Given the description of an element on the screen output the (x, y) to click on. 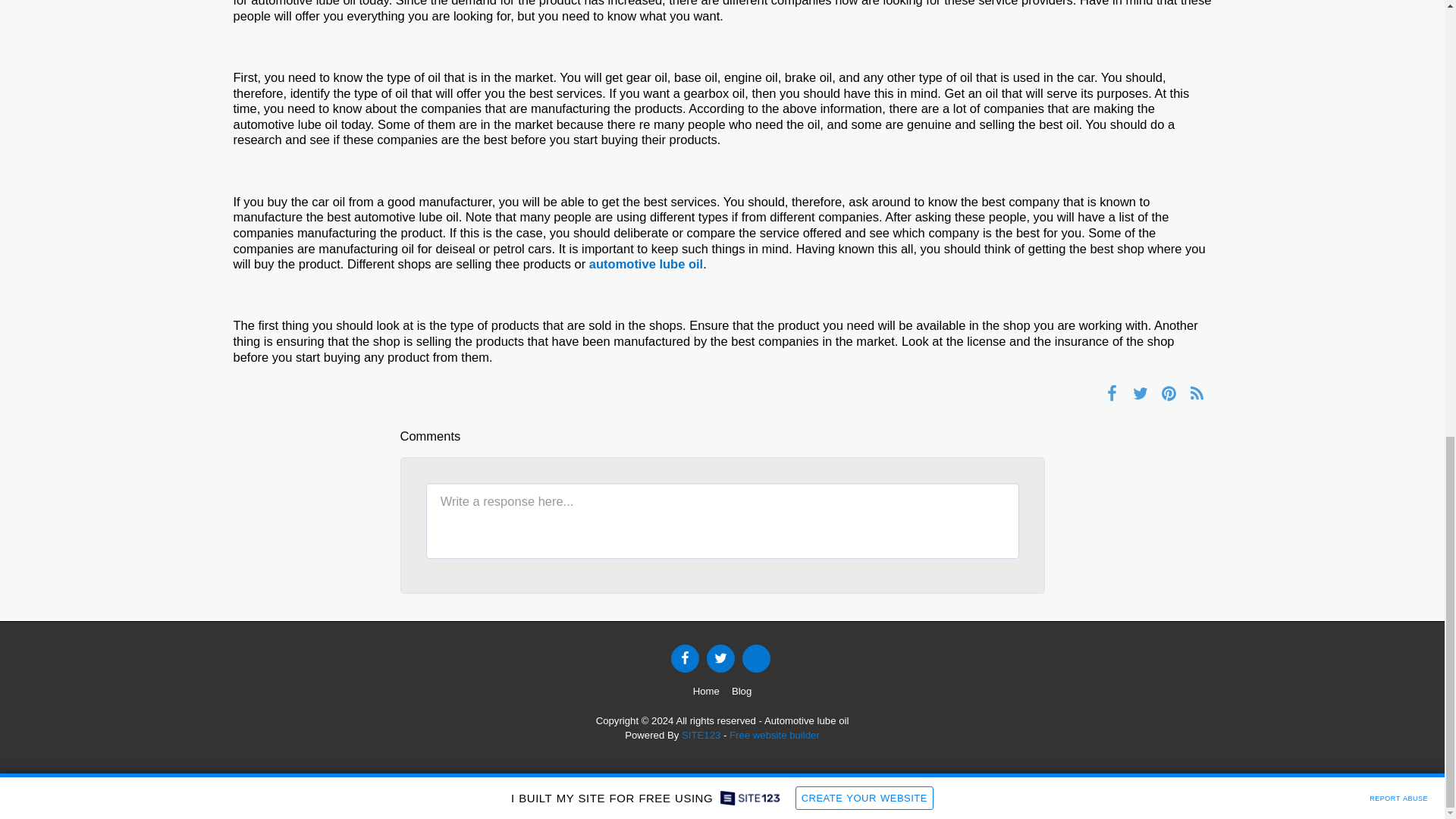
Free website builder (774, 735)
Pin it (1168, 392)
SITE123 (700, 735)
Blog (741, 691)
Home (706, 691)
Tweet (1139, 392)
RSS (1196, 392)
Share on Facebook (1111, 392)
automotive lube oil (646, 264)
